Given the description of an element on the screen output the (x, y) to click on. 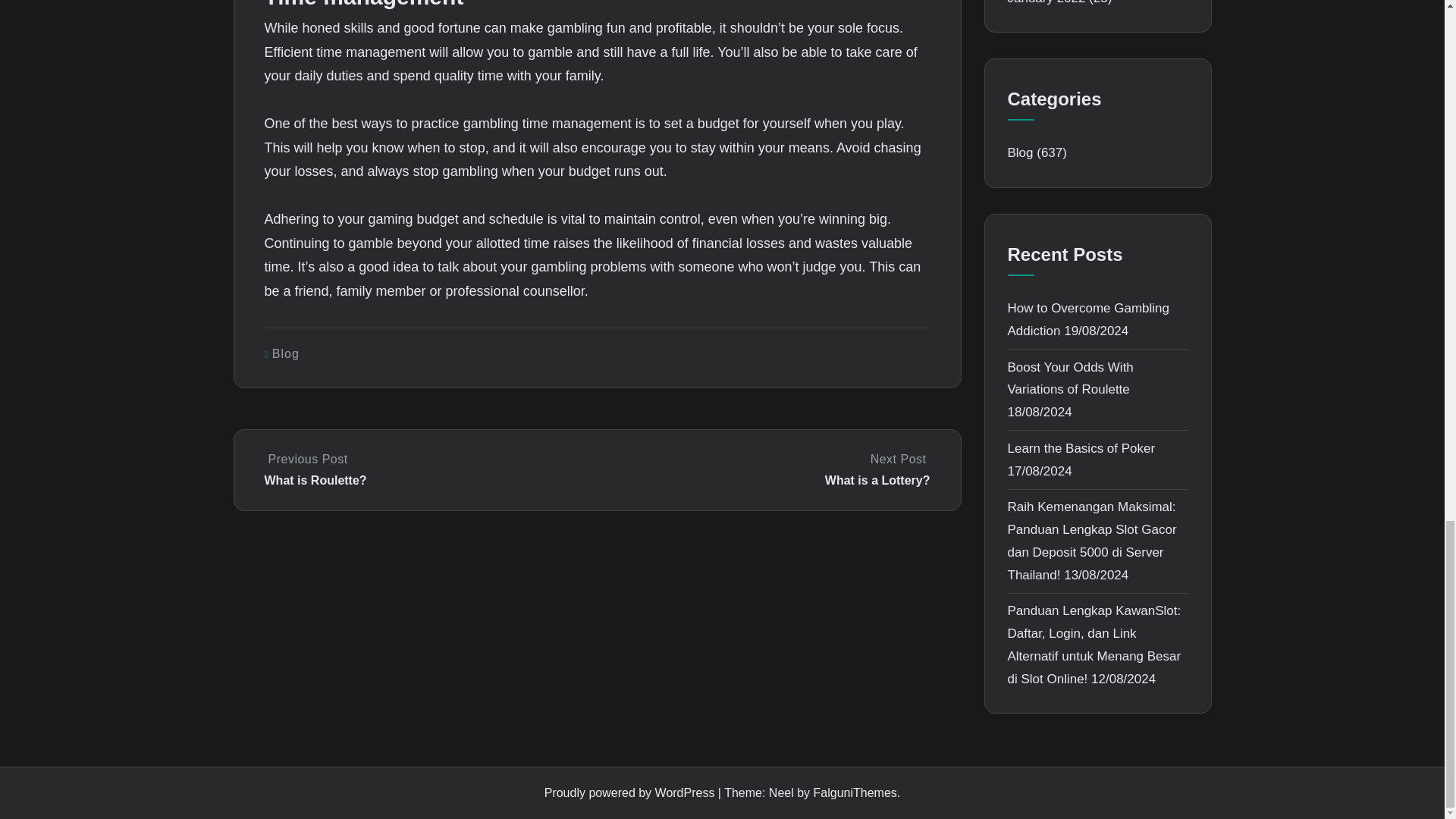
Blog (764, 469)
